Given the description of an element on the screen output the (x, y) to click on. 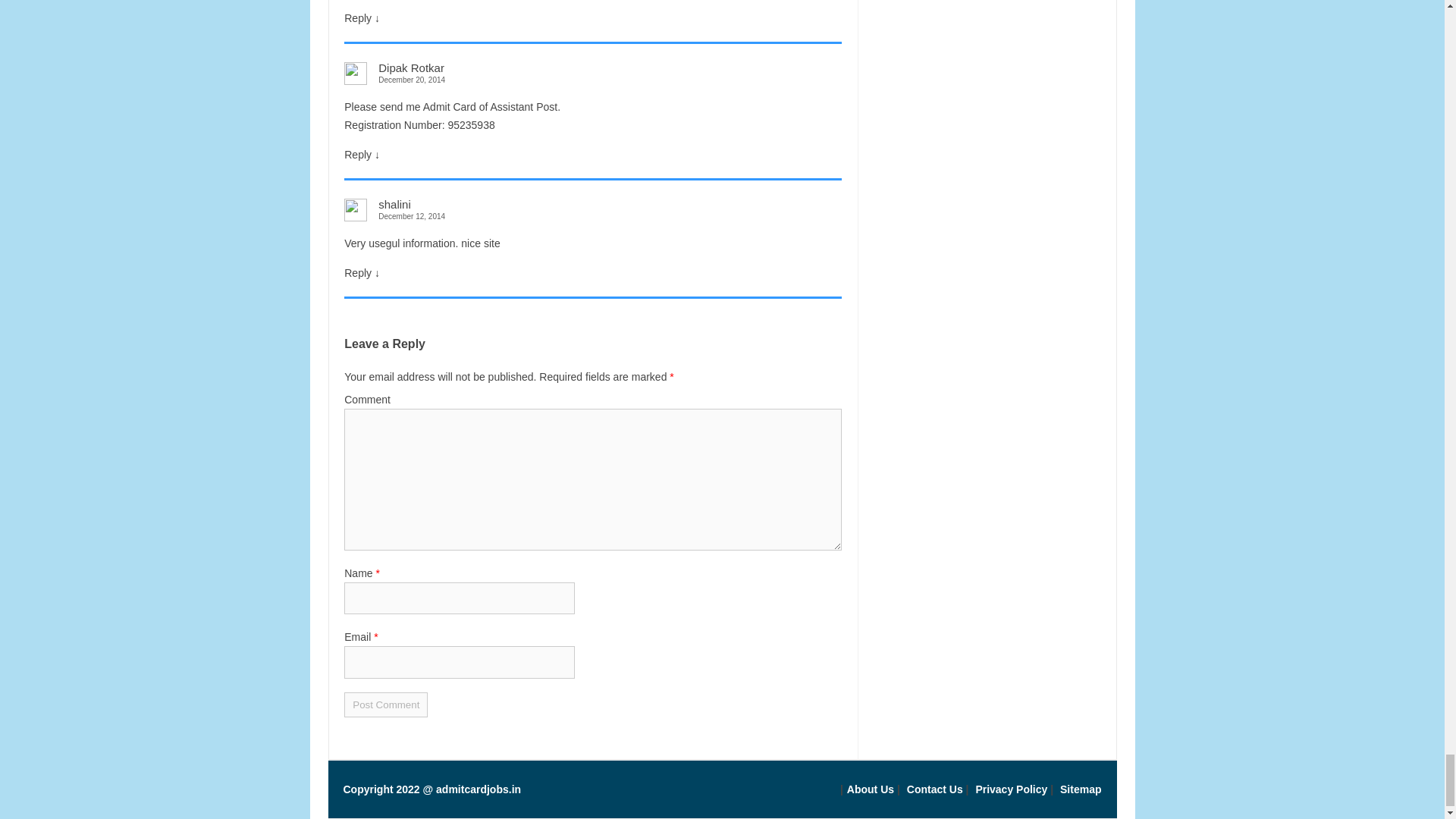
Post Comment (385, 704)
